Given the description of an element on the screen output the (x, y) to click on. 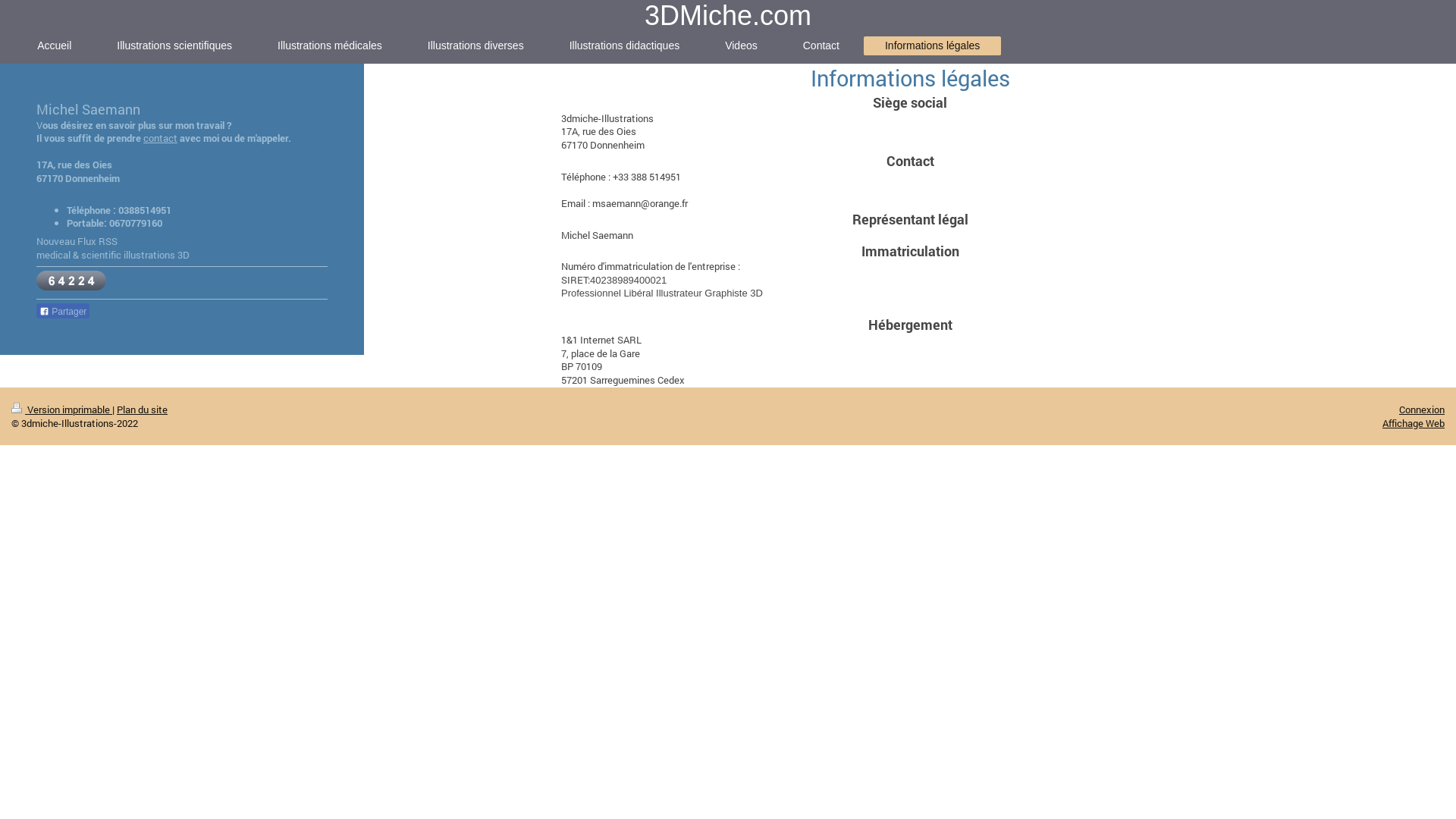
contact Element type: text (160, 137)
Illustrations didactiques Element type: text (624, 45)
Connexion Element type: text (1421, 408)
Partager Element type: text (62, 310)
Contact Element type: text (820, 45)
Accueil Element type: text (53, 45)
Affichage Web Element type: text (1413, 422)
3DMiche.com Element type: text (727, 15)
Illustrations diverses Element type: text (475, 45)
Illustrations scientifiques Element type: text (174, 45)
Videos Element type: text (740, 45)
Plan du site Element type: text (141, 408)
Version imprimable Element type: text (61, 408)
